Given the description of an element on the screen output the (x, y) to click on. 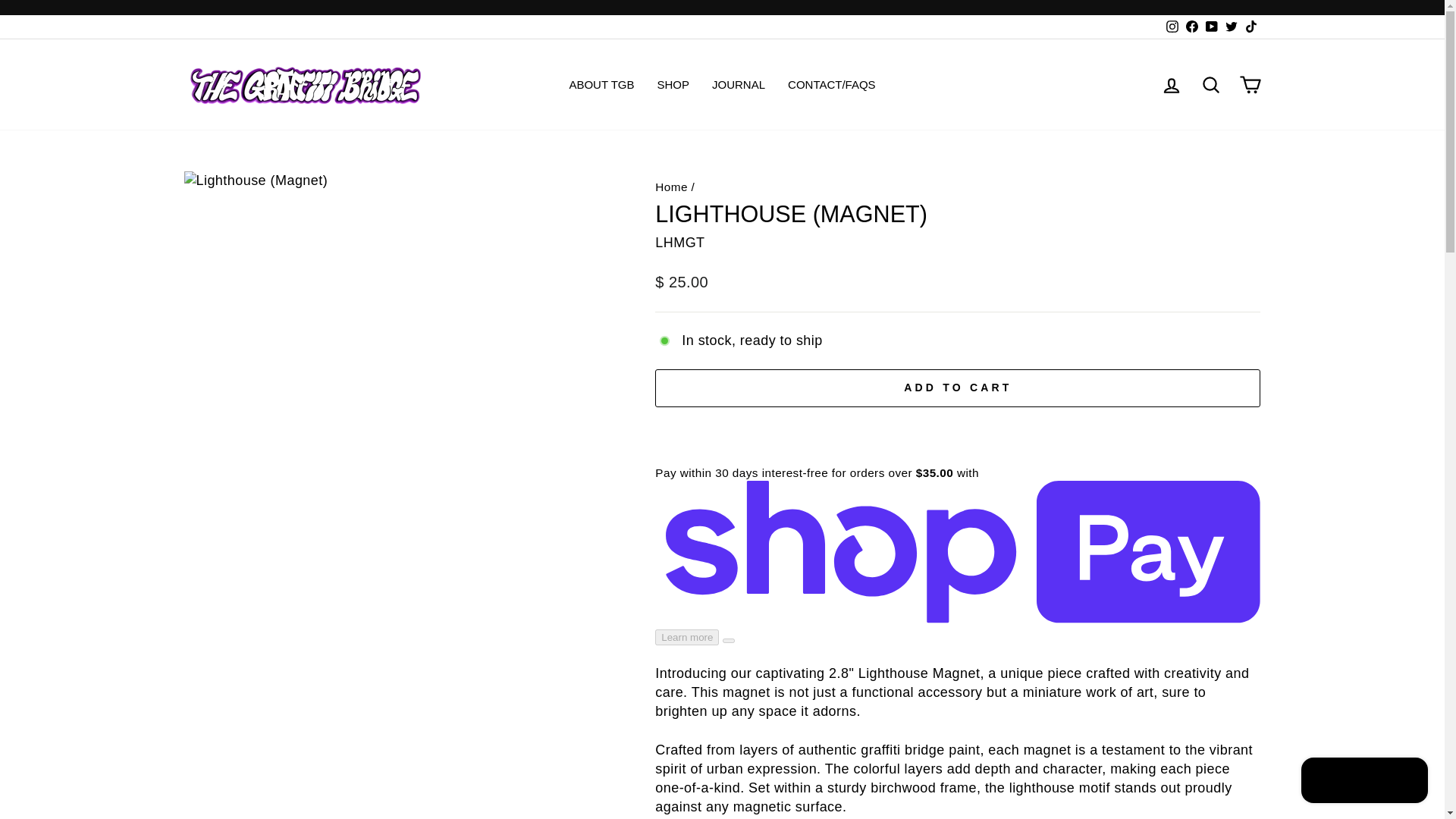
SHOP (673, 84)
Back to the frontpage (671, 186)
JOURNAL (738, 84)
ABOUT TGB (601, 84)
Home (671, 186)
ADD TO CART (957, 388)
CART (1249, 83)
SEARCH (1210, 83)
LOG IN (1171, 83)
